Given the description of an element on the screen output the (x, y) to click on. 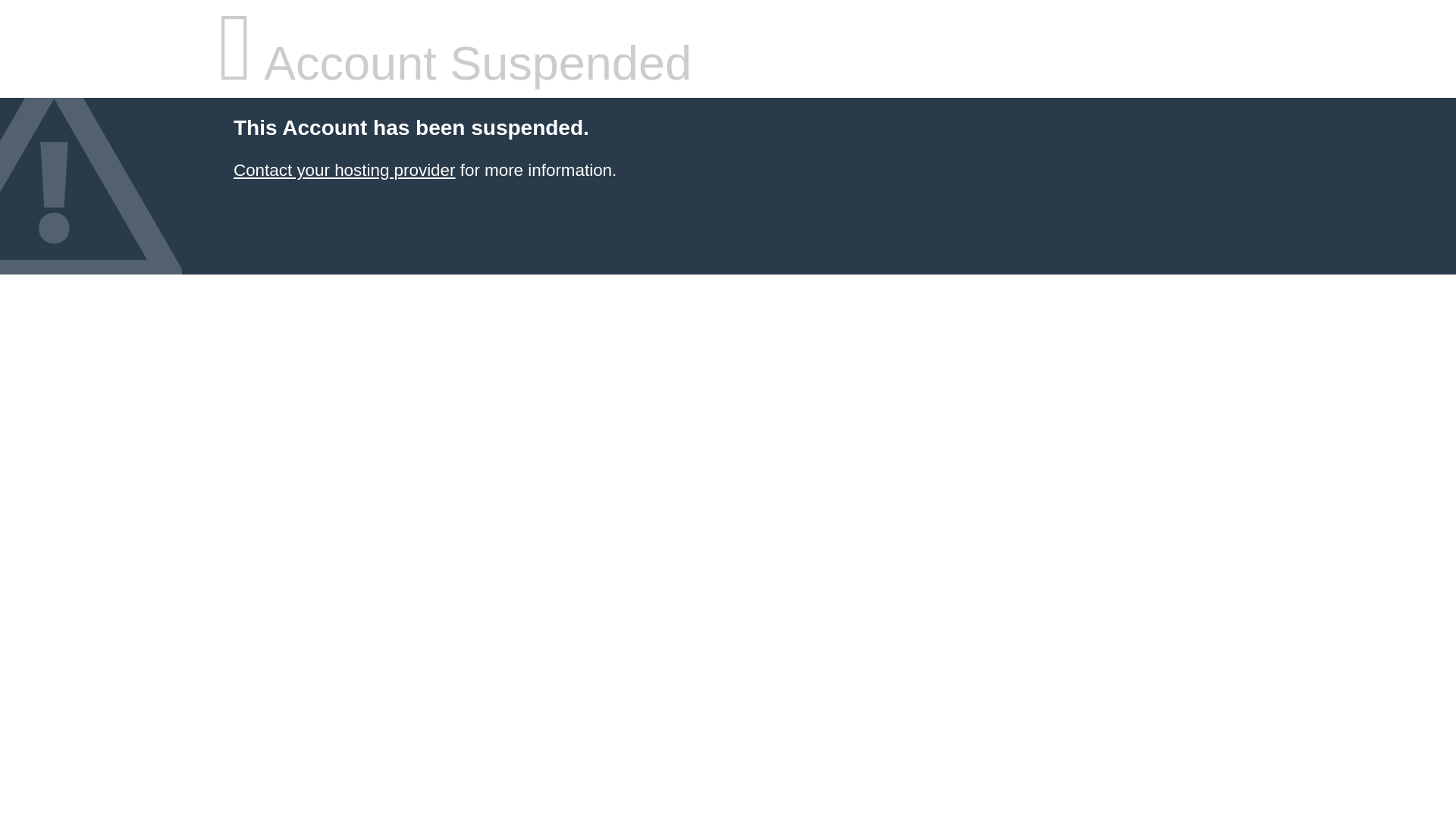
Contact your hosting provider (343, 169)
